Given the description of an element on the screen output the (x, y) to click on. 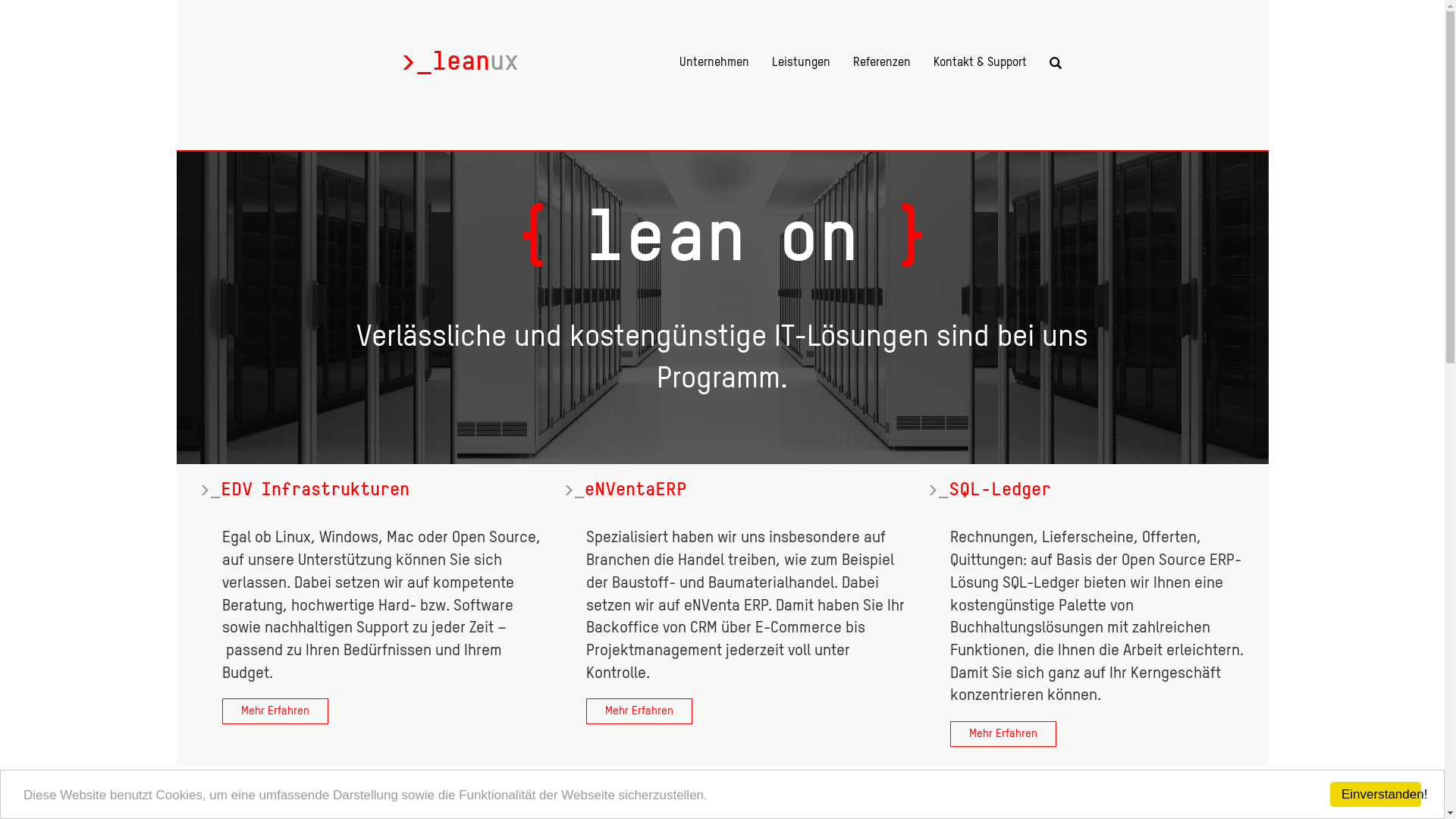
Einverstanden! Element type: text (1375, 793)
Unternehmen Element type: text (714, 61)
Mehr Erfahren Element type: text (638, 711)
Referenzen Element type: text (881, 61)
Mehr Erfahren Element type: text (1002, 733)
Mehr Erfahren Element type: text (274, 711)
Leistungen Element type: text (800, 61)
Kontakt & Support Element type: text (979, 61)
>_lean Element type: text (459, 60)
